Given the description of an element on the screen output the (x, y) to click on. 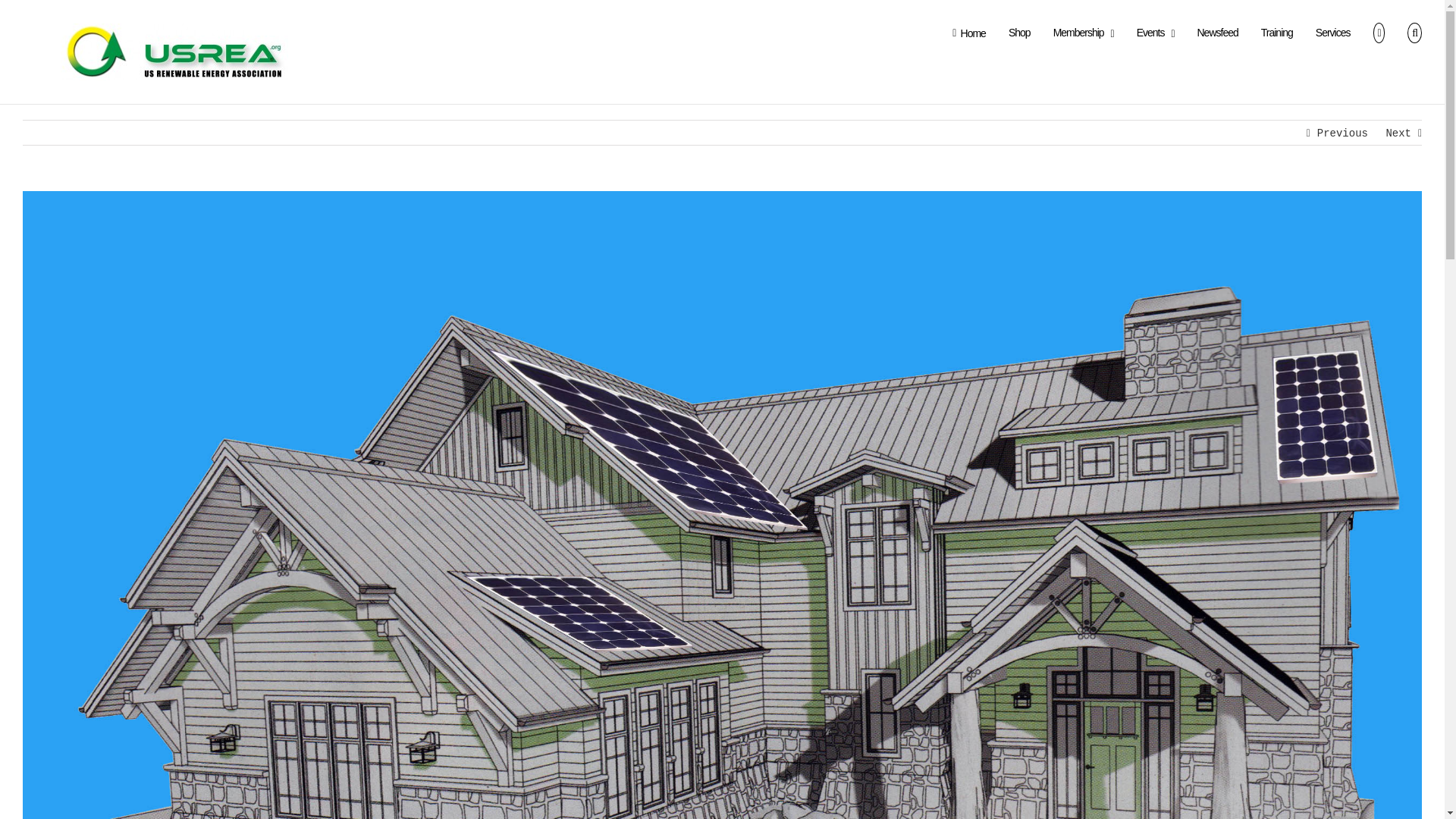
Previous (1342, 133)
Membership (1082, 32)
Next (1398, 133)
